Given the description of an element on the screen output the (x, y) to click on. 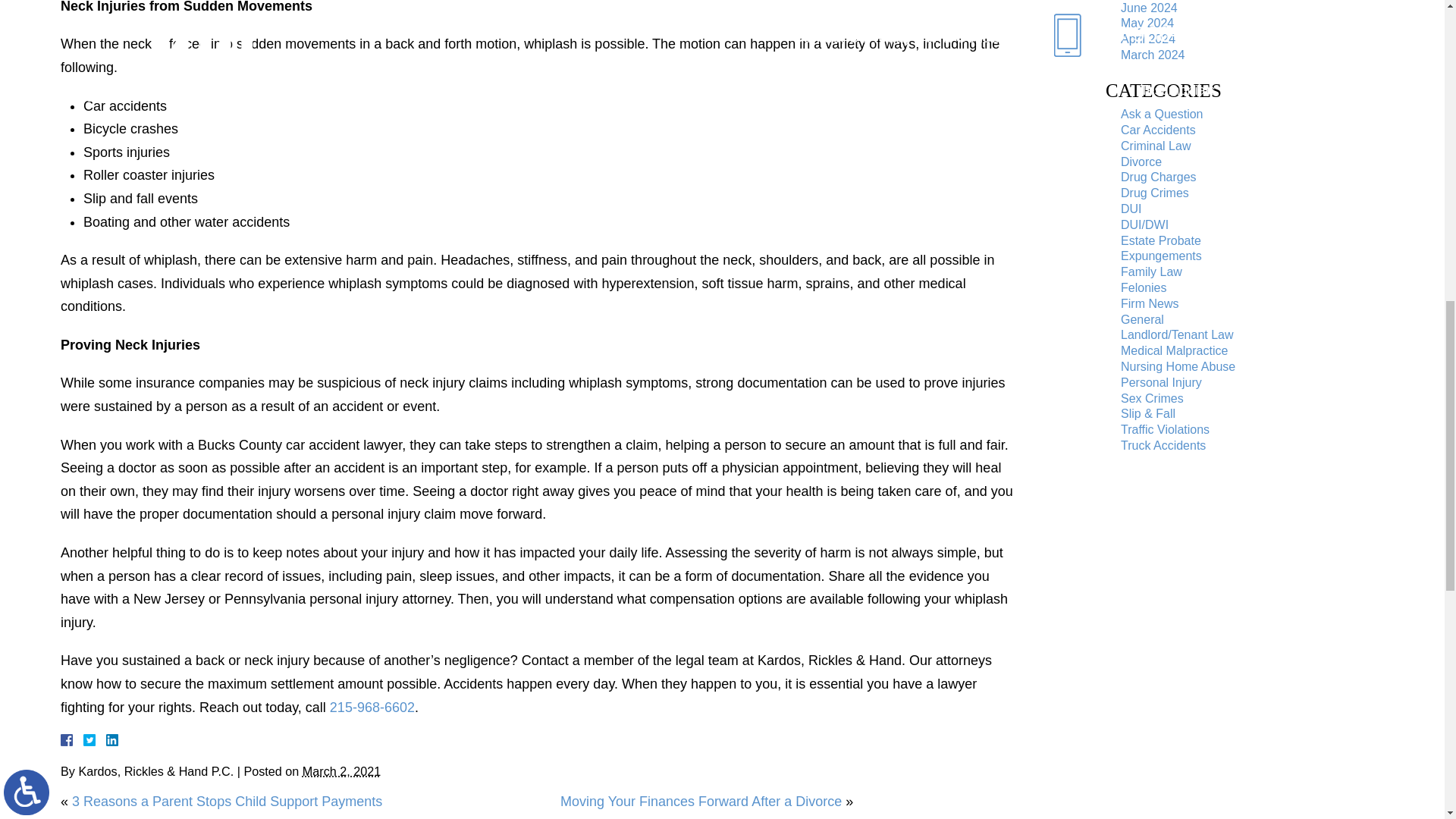
2021-03-02T03:00:47-0800 (341, 771)
LinkedIn (106, 739)
Twitter (95, 739)
Facebook (85, 739)
